Given the description of an element on the screen output the (x, y) to click on. 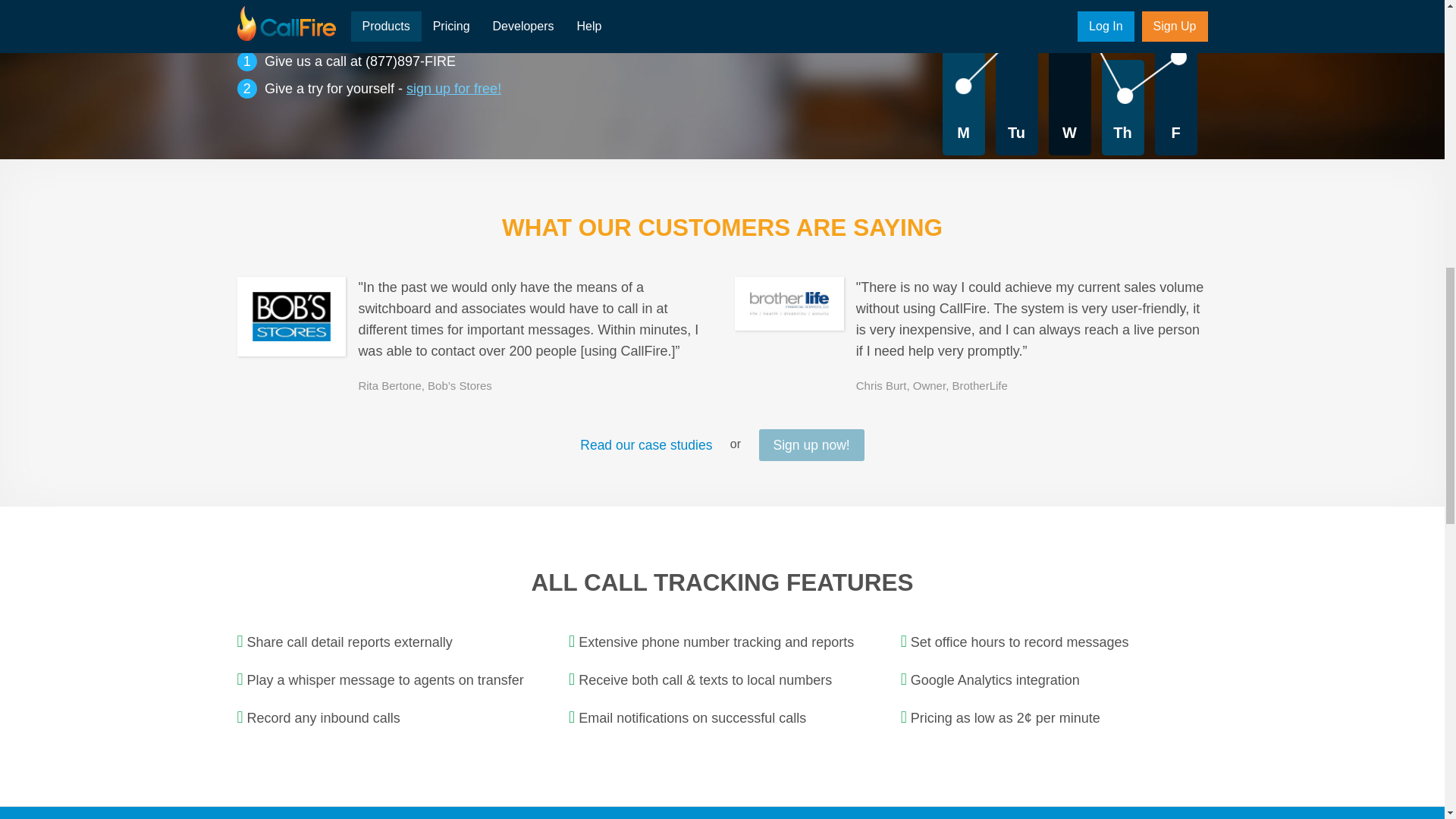
Read our case studies (646, 445)
Sign up now! (811, 445)
sign up for free! (453, 88)
